Given the description of an element on the screen output the (x, y) to click on. 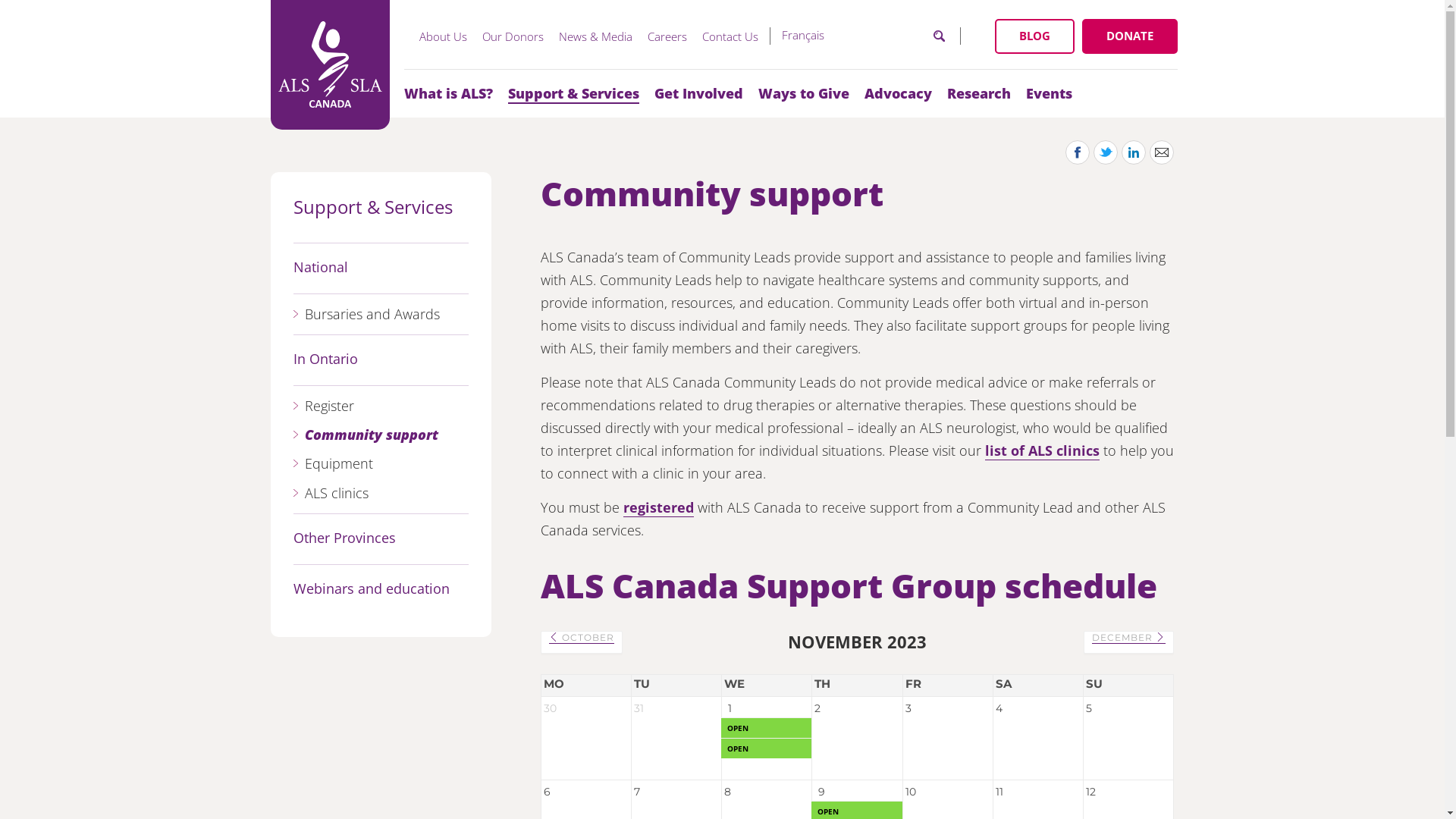
Support & Services Element type: text (372, 206)
Advocacy Element type: text (897, 93)
Other Provinces Element type: text (344, 538)
About Us Element type: text (442, 36)
Register Element type: text (329, 406)
Share on Facebook Element type: text (1077, 152)
registered Element type: text (658, 507)
What is ALS? Element type: text (447, 93)
Share by Email Element type: text (1161, 152)
Careers Element type: text (667, 36)
list of ALS clinics Element type: text (1041, 450)
Webinars and education Element type: text (371, 589)
Contact Us Element type: text (730, 36)
Equipment Element type: text (338, 463)
Share on Twitter Element type: text (1105, 152)
OPEN Element type: text (766, 735)
OPEN Element type: text (766, 747)
Ways to Give Element type: text (803, 93)
News & Media Element type: text (594, 36)
Community support Element type: text (371, 435)
Our Donors Element type: text (512, 36)
DONATE Element type: text (1128, 35)
Get Involved Element type: text (697, 93)
DECEMBER Element type: text (1128, 637)
Share on LinkedIn Element type: text (1133, 152)
OCTOBER Element type: text (581, 637)
Support & Services Element type: text (573, 93)
Research Element type: text (978, 93)
Events Element type: text (1048, 93)
BLOG Element type: text (1034, 35)
In Ontario Element type: text (325, 359)
National Element type: text (320, 267)
ALS clinics Element type: text (336, 493)
Bursaries and Awards Element type: text (371, 314)
